Given the description of an element on the screen output the (x, y) to click on. 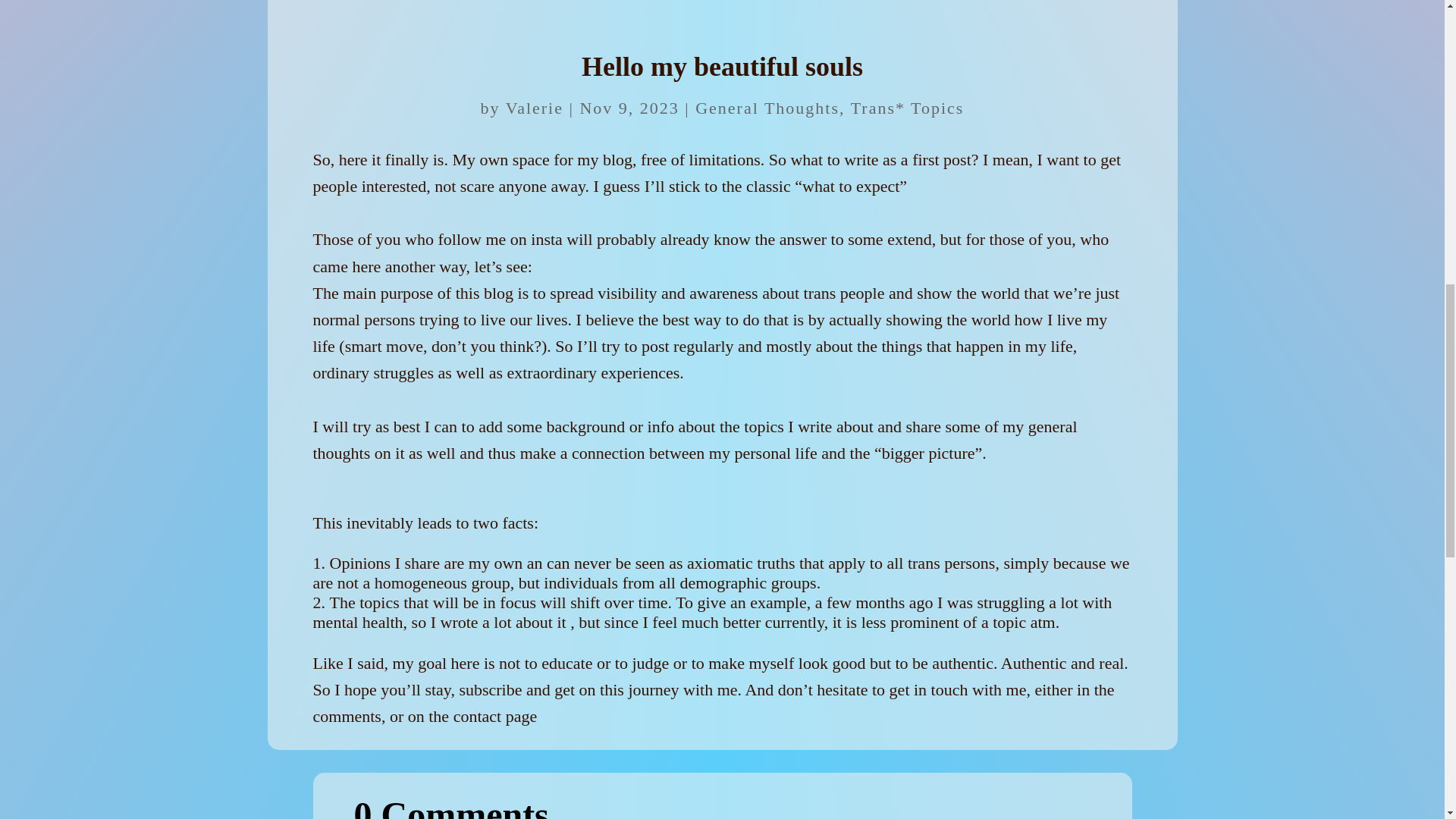
0 Comments (721, 806)
Valerie (534, 107)
Posts by Valerie (534, 107)
General Thoughts (767, 107)
